Given the description of an element on the screen output the (x, y) to click on. 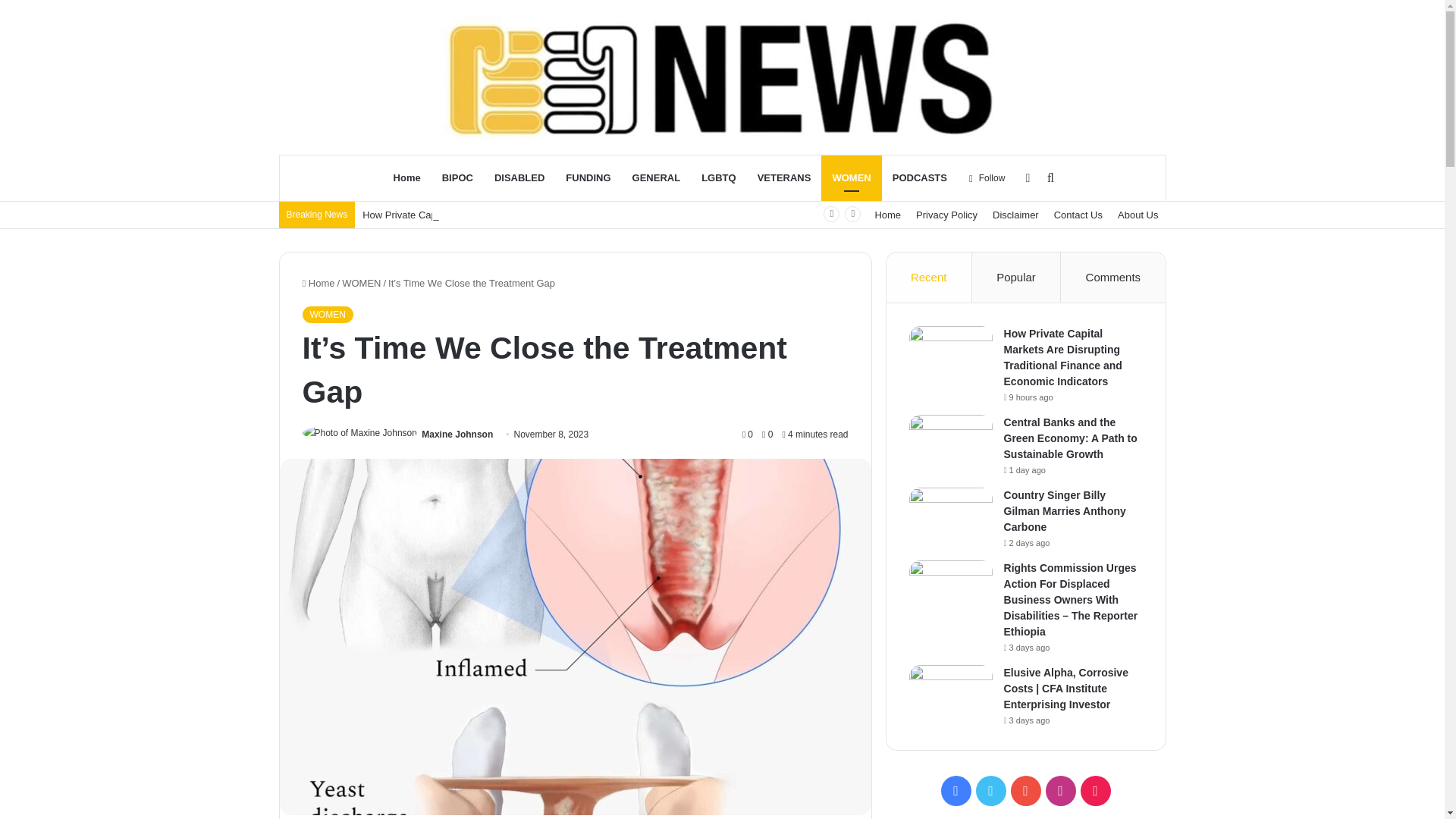
DISABLED (518, 177)
VETERANS (784, 177)
FUNDING (587, 177)
WOMEN (326, 314)
PODCASTS (920, 177)
WOMEN (850, 177)
WOMEN (361, 283)
Home (887, 214)
Boss Buddies News (722, 76)
Home (317, 283)
